Given the description of an element on the screen output the (x, y) to click on. 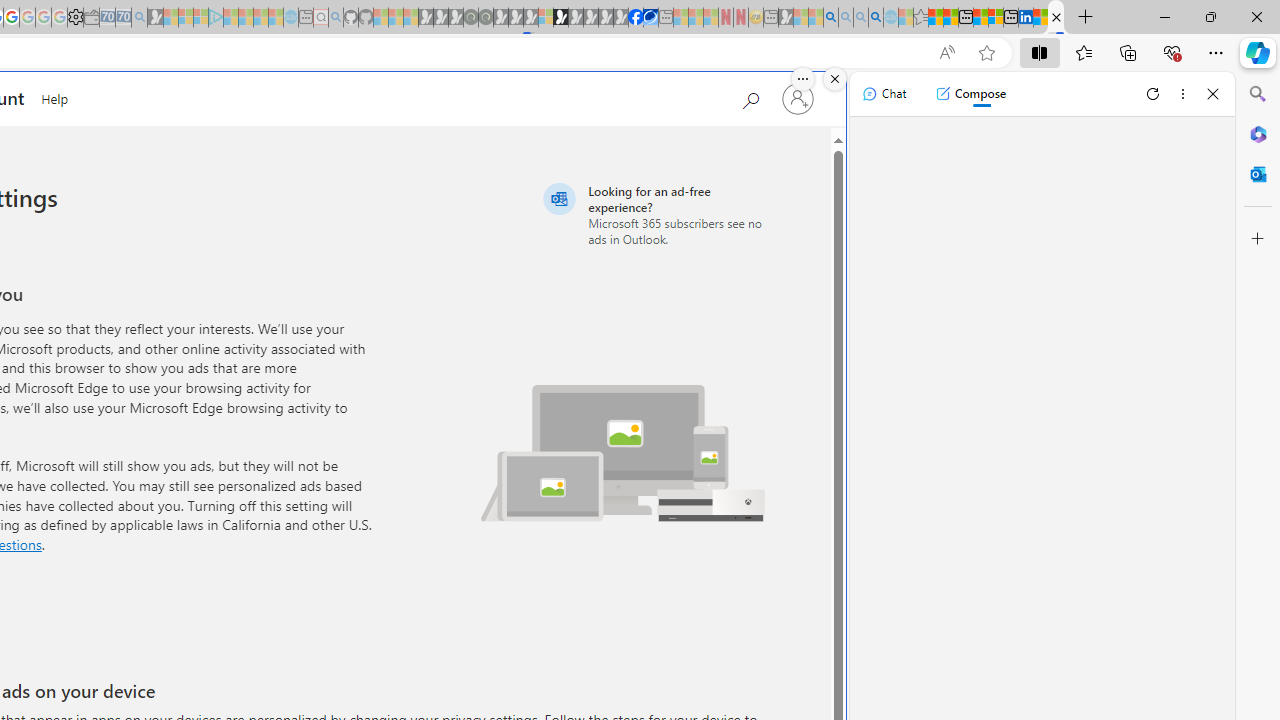
Google Chrome Internet Browser Download - Search Images (876, 17)
More options. (803, 79)
Compose (970, 93)
Chat (884, 93)
Microsoft Start Gaming - Sleeping (155, 17)
